Given the description of an element on the screen output the (x, y) to click on. 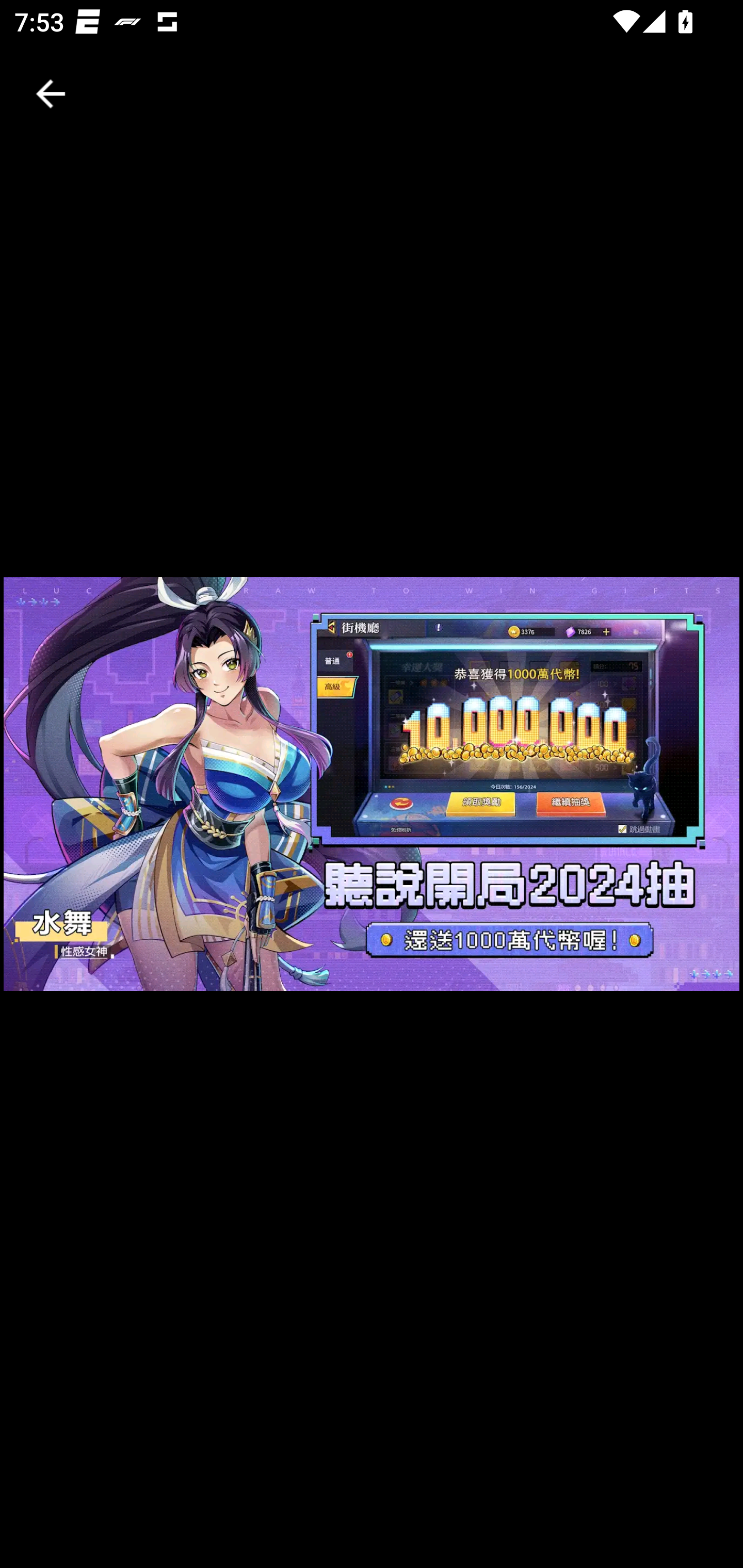
Back (50, 93)
